Given the description of an element on the screen output the (x, y) to click on. 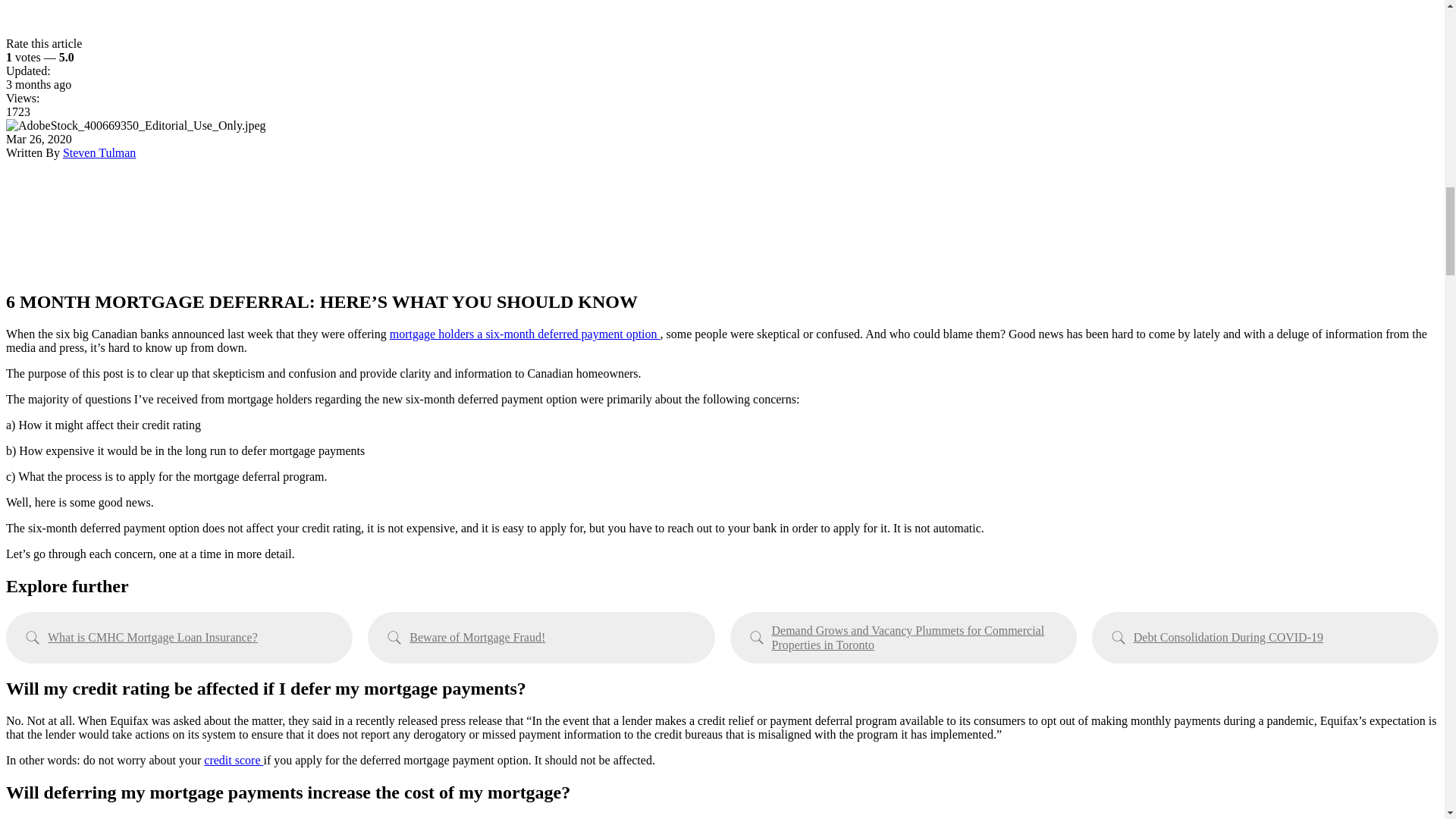
credit score (233, 759)
What is CMHC Mortgage Loan Insurance? (178, 637)
Steven Tulman (98, 152)
mortgage holders a six-month deferred payment option (525, 333)
Beware of Mortgage Fraud! (541, 637)
